Given the description of an element on the screen output the (x, y) to click on. 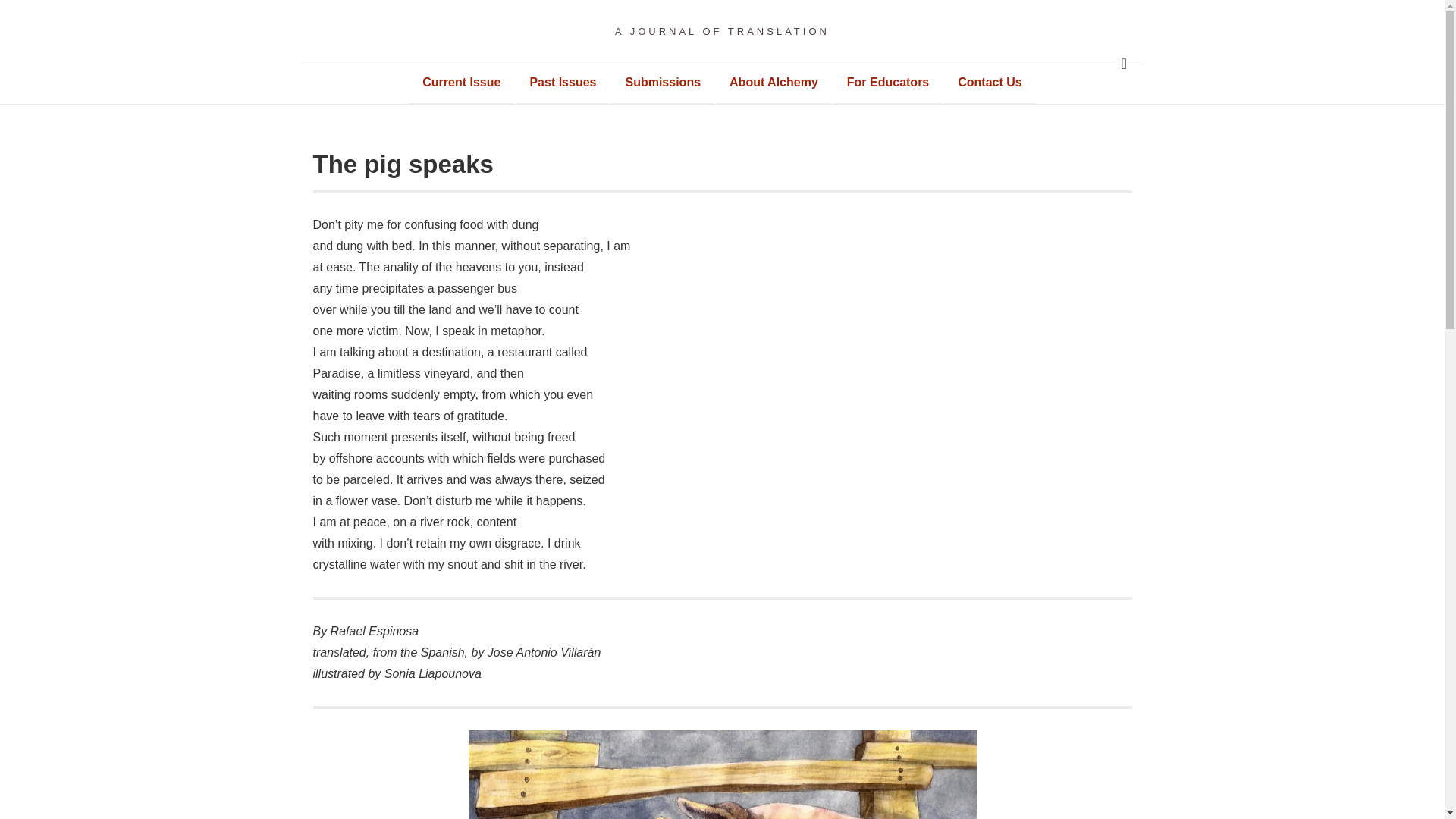
About Alchemy (773, 82)
Past Issues (562, 82)
Contact Us (989, 82)
For Educators (887, 82)
Submissions (662, 82)
MENU (1123, 63)
Current Issue (461, 82)
